Given the description of an element on the screen output the (x, y) to click on. 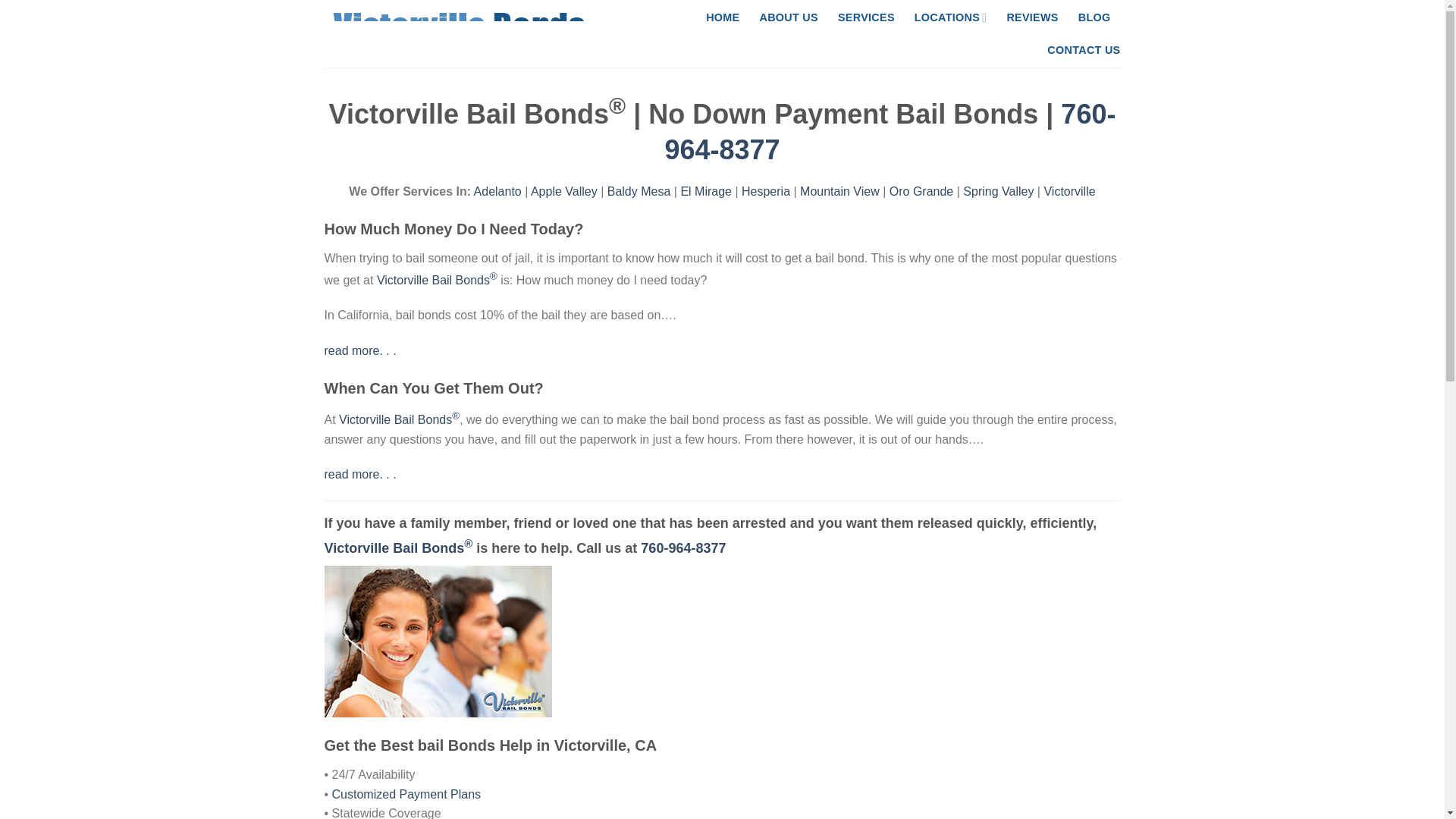
Adelanto (497, 191)
Victorville (1068, 191)
Services You Get At Victorville Bail Bonds (437, 641)
HOME (722, 17)
LOCATIONS (950, 17)
read more. . . (360, 473)
El Mirage (705, 191)
760-964-8377 (682, 548)
Victorville Bail Bonds (399, 419)
Mountain View (839, 191)
Victorville Bail Bonds (682, 548)
BLOG (1094, 17)
REVIEWS (1032, 17)
read more. . . (360, 350)
Victorville Bail Bonds (398, 548)
